Given the description of an element on the screen output the (x, y) to click on. 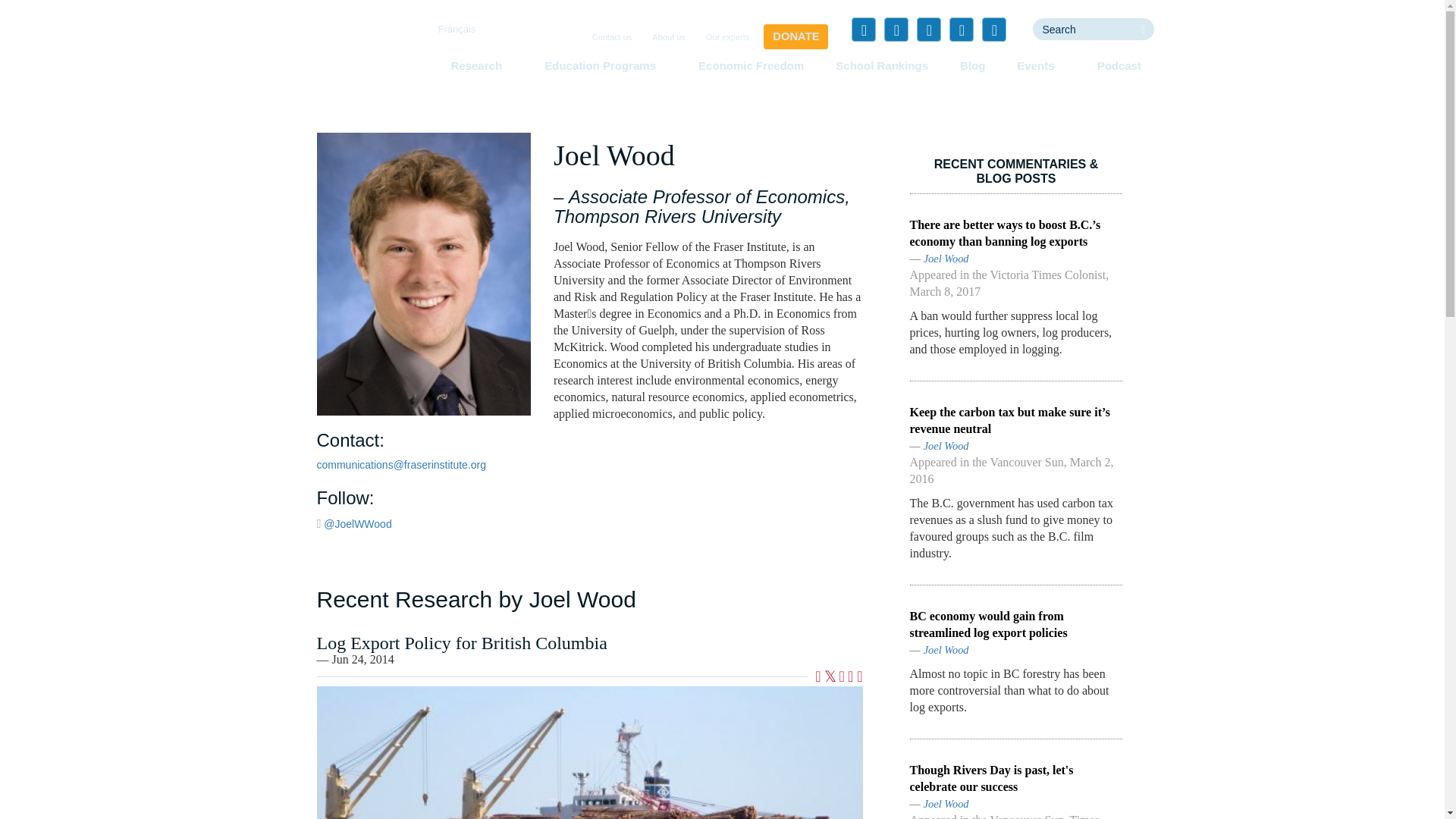
Our experts (727, 37)
Contact us (612, 37)
DONATE (795, 36)
School Rankings (882, 65)
About us (668, 37)
Log Export Policy for British Columbia (590, 752)
Research (481, 65)
LinkedIn (928, 29)
